Given the description of an element on the screen output the (x, y) to click on. 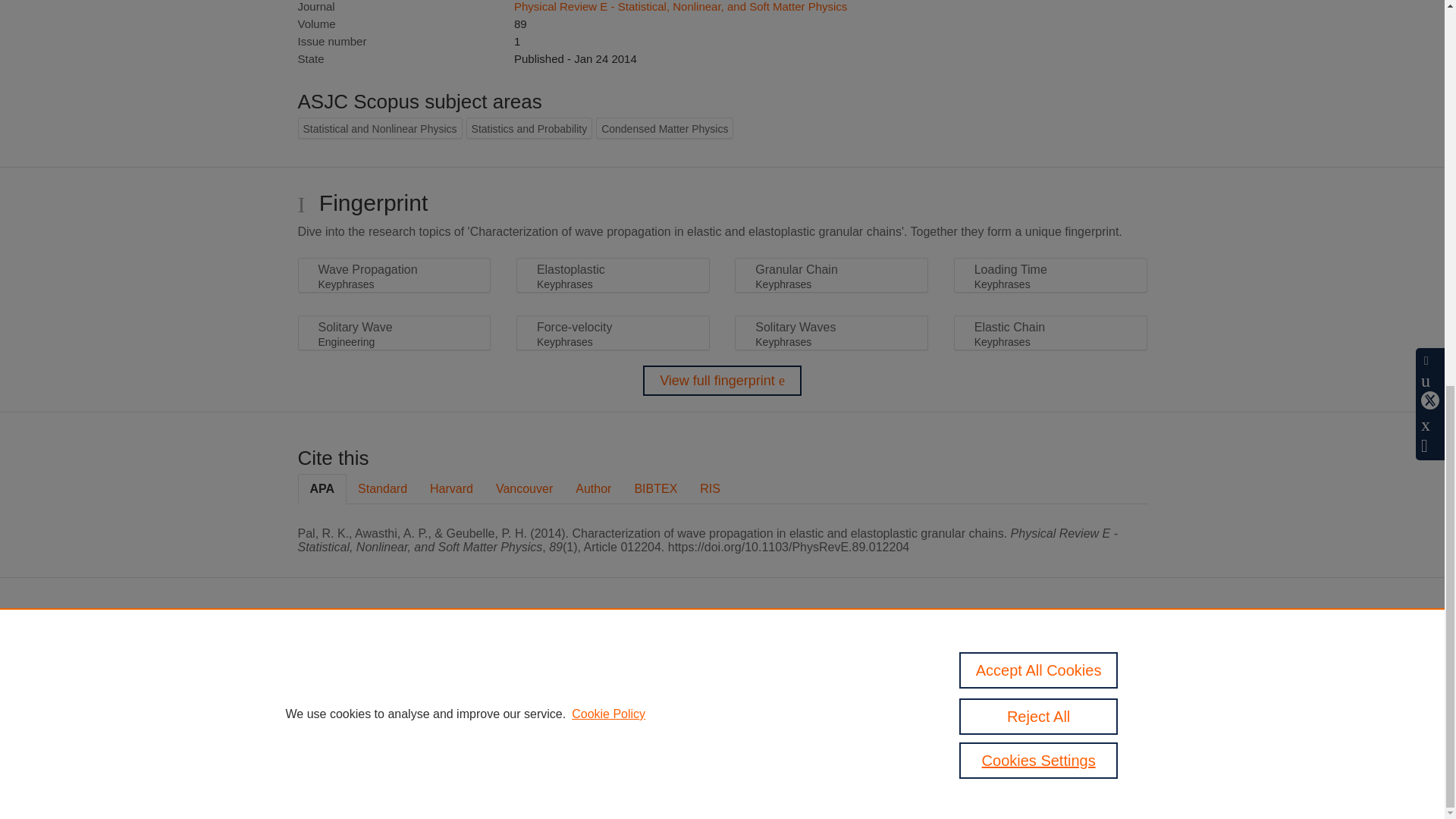
View full fingerprint (722, 380)
